Given the description of an element on the screen output the (x, y) to click on. 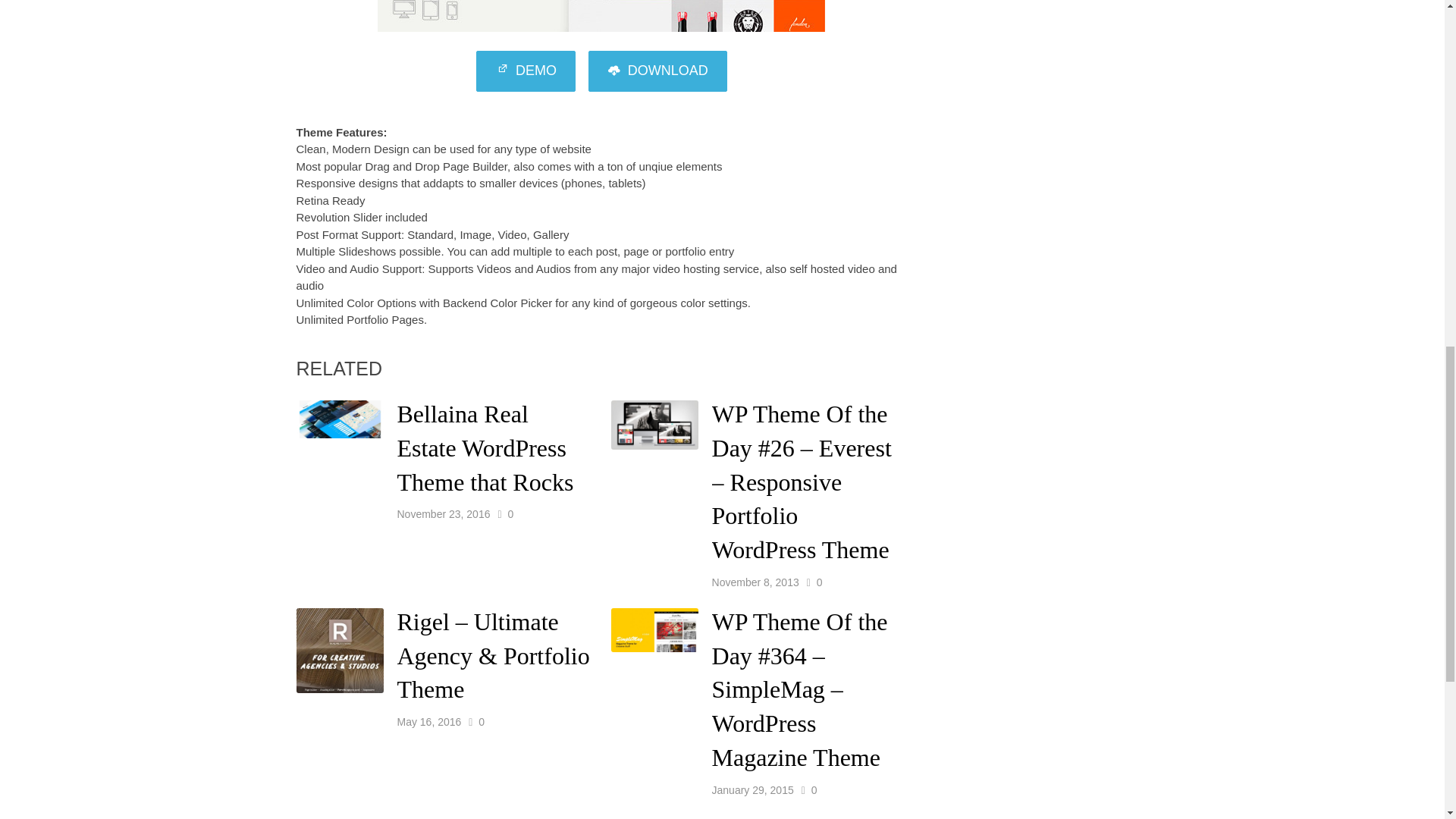
0 (509, 513)
Bellaina Real Estate WordPress Theme that Rocks (485, 448)
best wordpress themes (525, 70)
wordpress theme (657, 70)
Bellaina Real Estate WordPress Theme that Rocks (485, 448)
DOWNLOAD (657, 70)
DEMO (525, 70)
0 (819, 581)
